Given the description of an element on the screen output the (x, y) to click on. 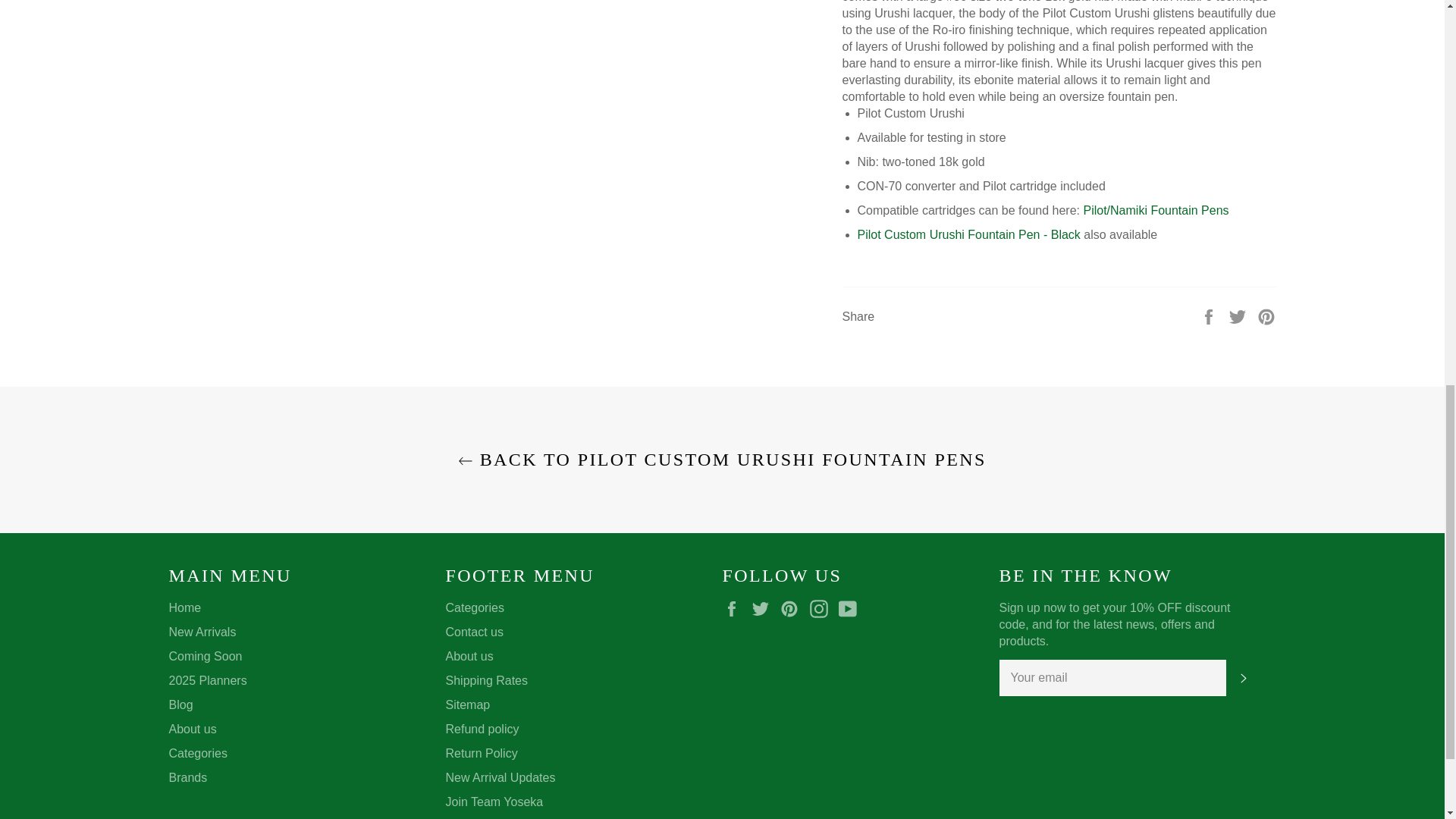
Share on Facebook (1210, 315)
Pin on Pinterest (1266, 315)
Tweet on Twitter (1238, 315)
Yoseka Stationery on Twitter (764, 608)
Yoseka Stationery on Pinterest (793, 608)
Yoseka Stationery on Instagram (822, 608)
Yoseka Stationery on YouTube (851, 608)
Yoseka Stationery on Facebook (735, 608)
